Given the description of an element on the screen output the (x, y) to click on. 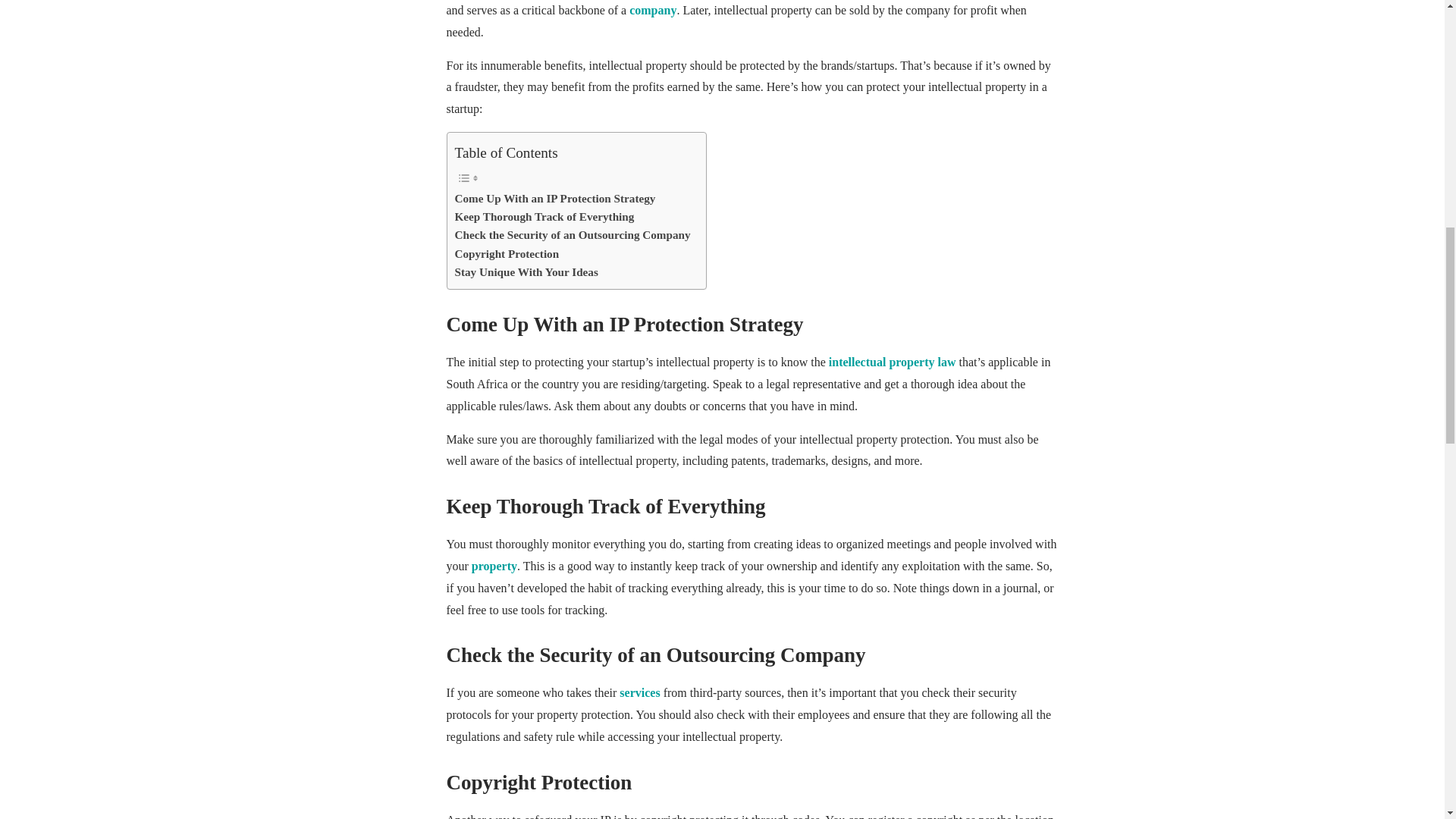
Stay Unique With Your Ideas (526, 271)
Check the Security of an Outsourcing Company (572, 235)
Keep Thorough Track of Everything (544, 217)
Come Up With an IP Protection Strategy (555, 198)
Copyright Protection (506, 253)
